Given the description of an element on the screen output the (x, y) to click on. 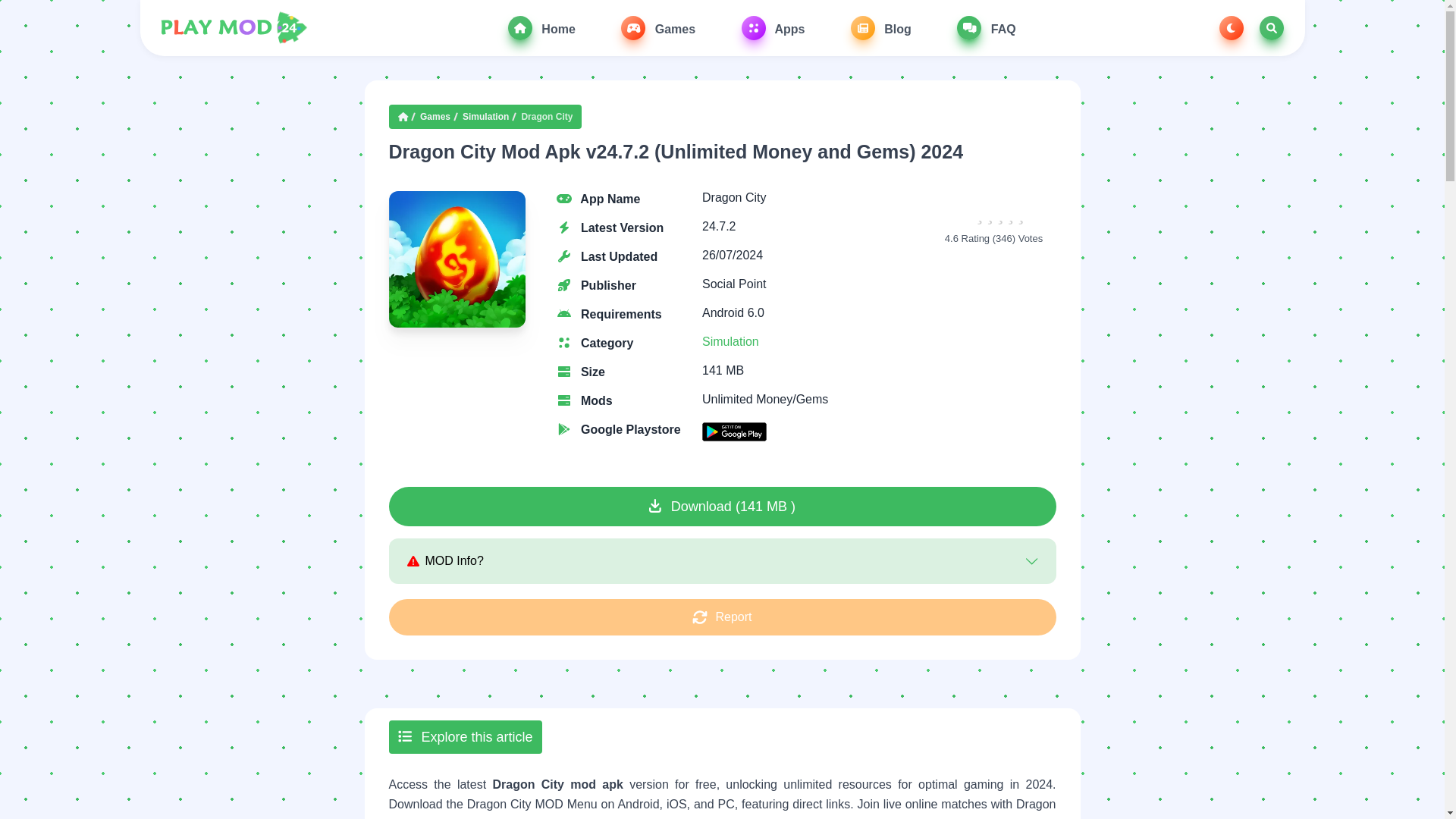
Simulation (729, 341)
Dark Mode (1231, 27)
Home (541, 27)
Apps (773, 27)
MOD Info? (721, 560)
Explore this article (464, 736)
FAQ (985, 27)
Games (435, 116)
Blog (880, 27)
Simulation (486, 116)
Report (721, 616)
Games (658, 27)
Search (1270, 27)
